Given the description of an element on the screen output the (x, y) to click on. 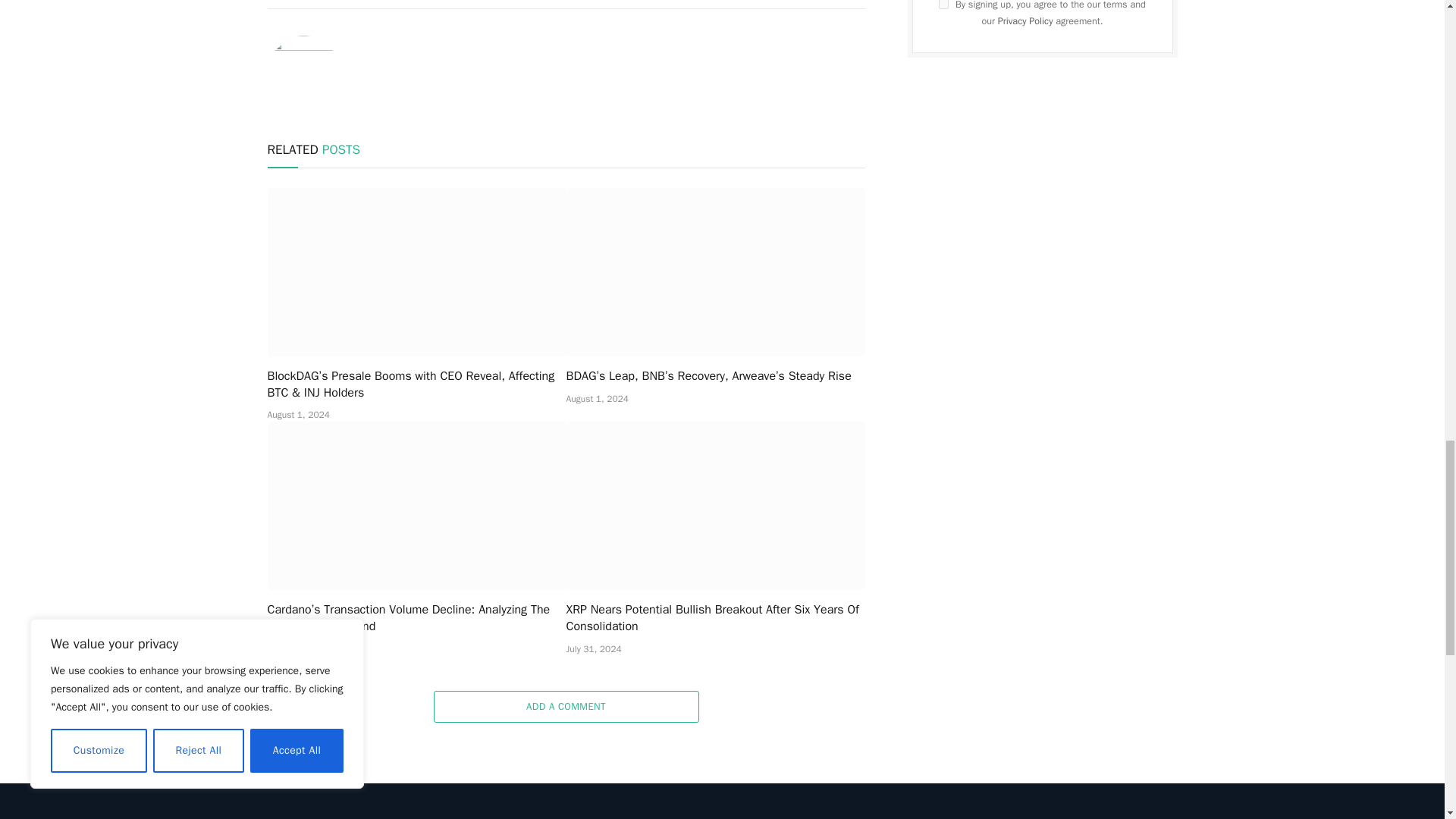
on (944, 4)
